Given the description of an element on the screen output the (x, y) to click on. 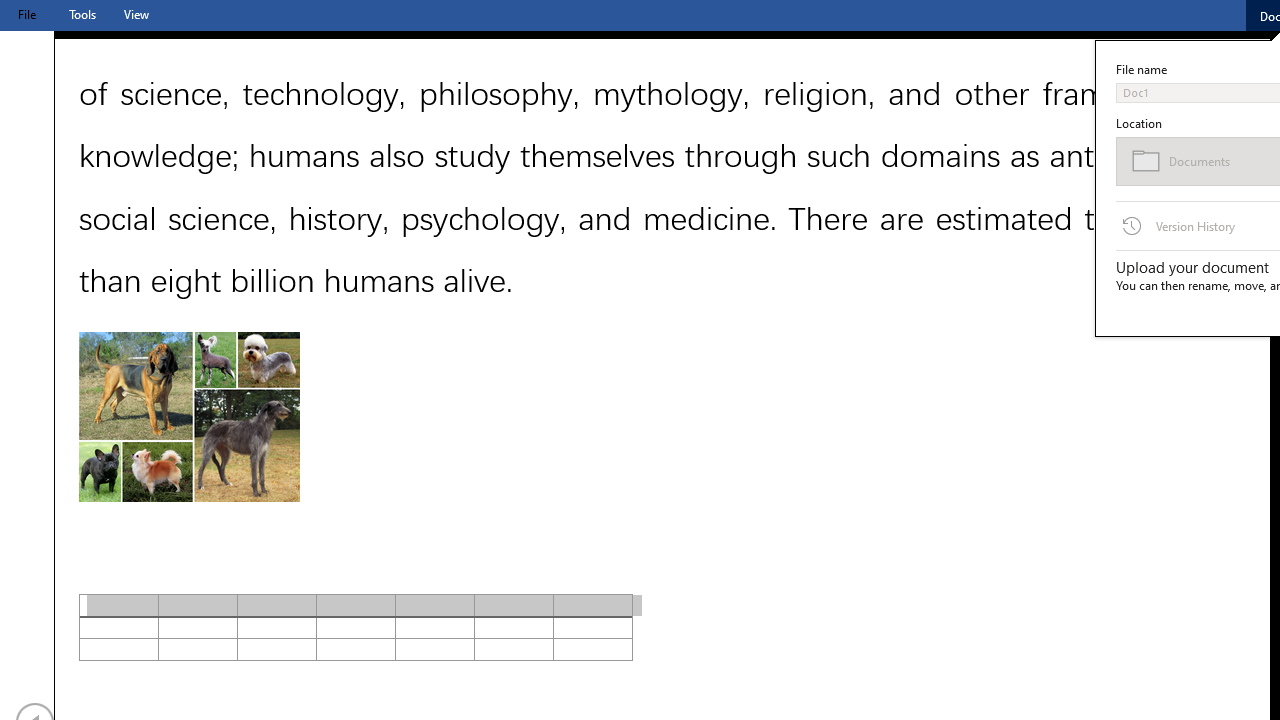
Morphological variation in six dogs (188, 416)
Tools (82, 14)
